Given the description of an element on the screen output the (x, y) to click on. 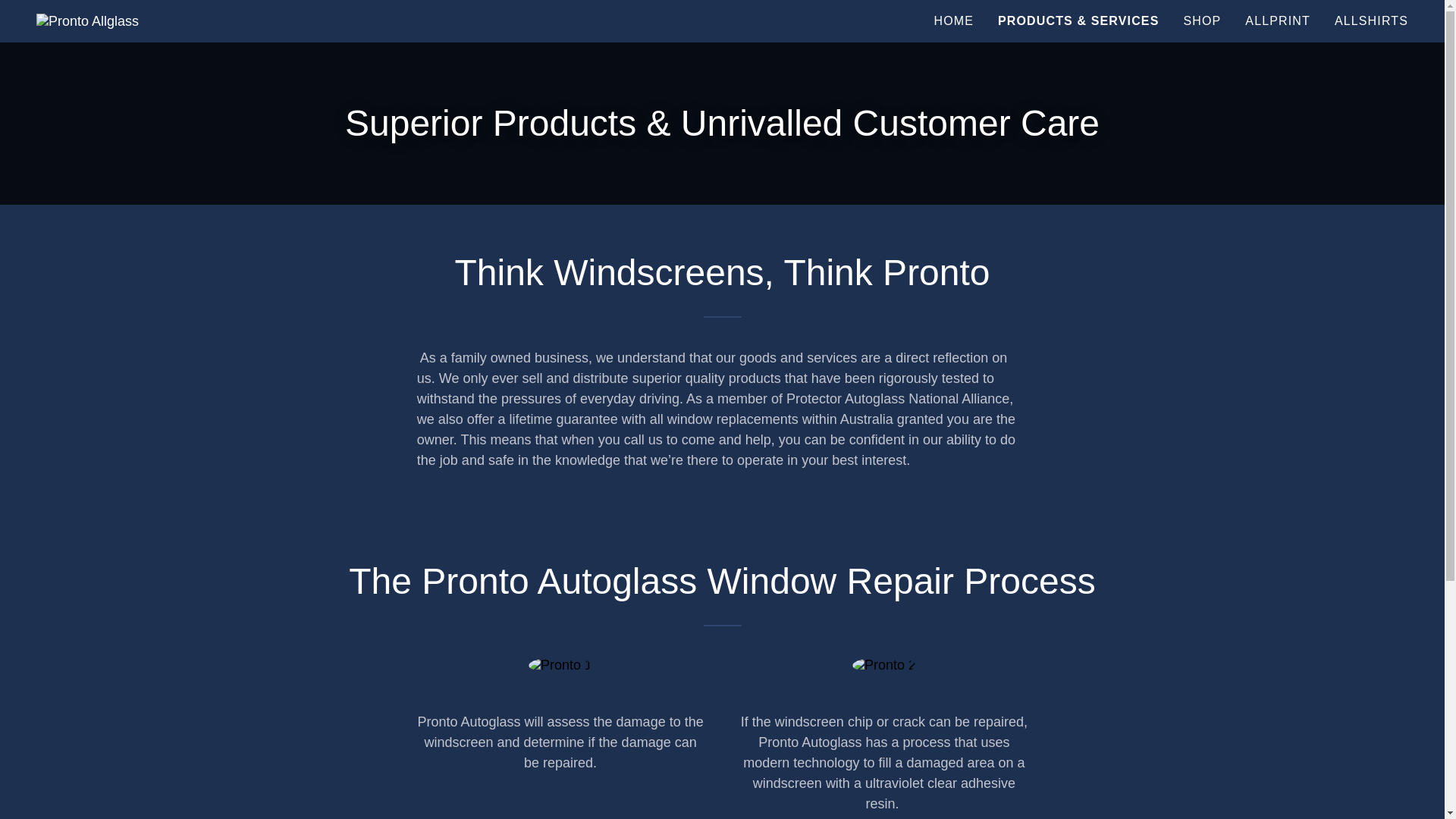
SHOP Element type: text (1201, 20)
ALLSHIRTS Element type: text (1371, 20)
HOME Element type: text (953, 20)
Pronto Allglass Element type: hover (87, 20)
ALLPRINT Element type: text (1277, 20)
PRODUCTS & SERVICES Element type: text (1077, 21)
